Given the description of an element on the screen output the (x, y) to click on. 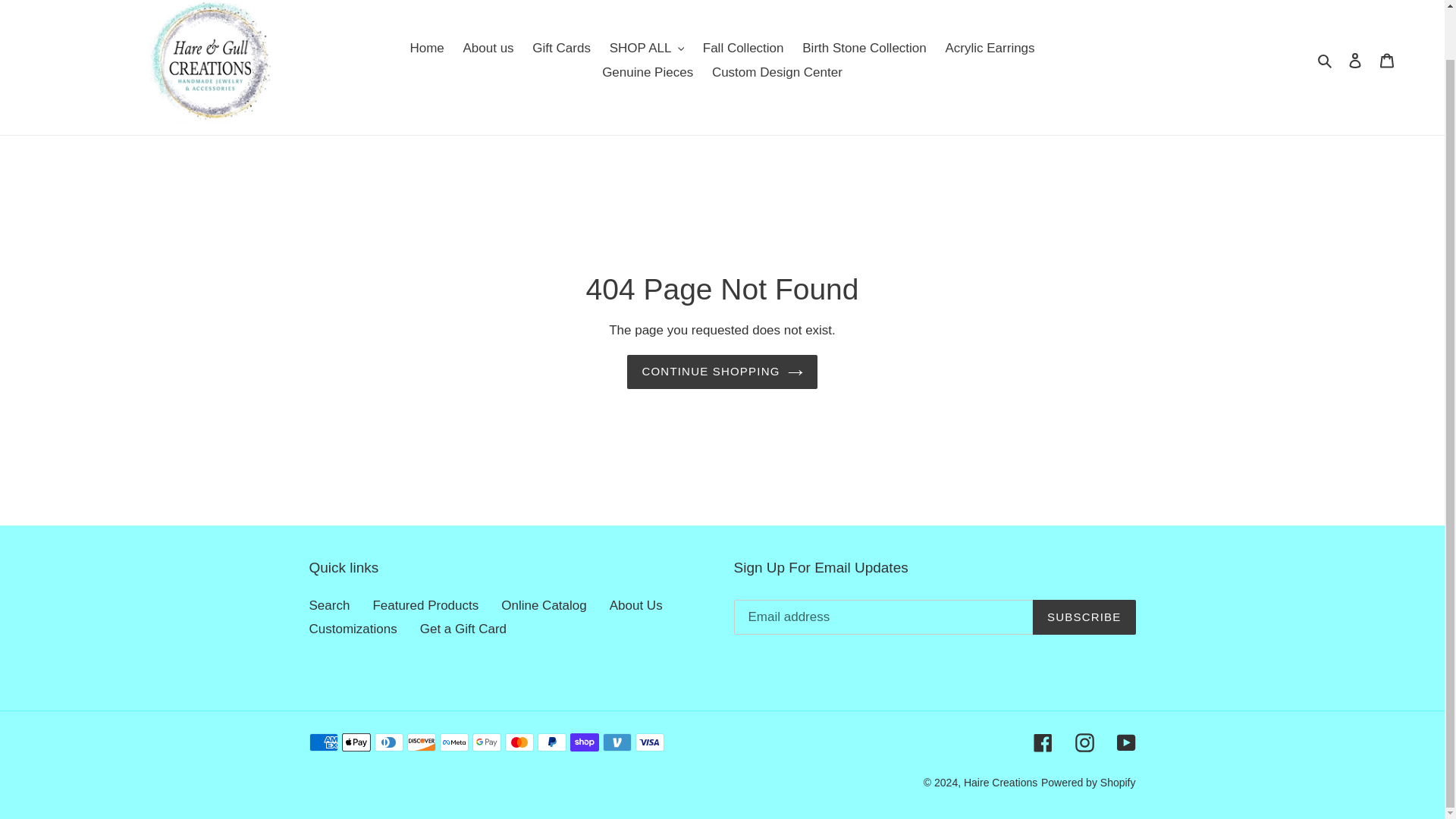
Home (426, 48)
Genuine Pieces (647, 72)
Cart (1387, 60)
Search (1326, 60)
Custom Design Center (777, 72)
SHOP ALL (646, 48)
Fall Collection (743, 48)
Acrylic Earrings (989, 48)
Birth Stone Collection (863, 48)
Log in (1355, 60)
About us (488, 48)
Gift Cards (561, 48)
